Given the description of an element on the screen output the (x, y) to click on. 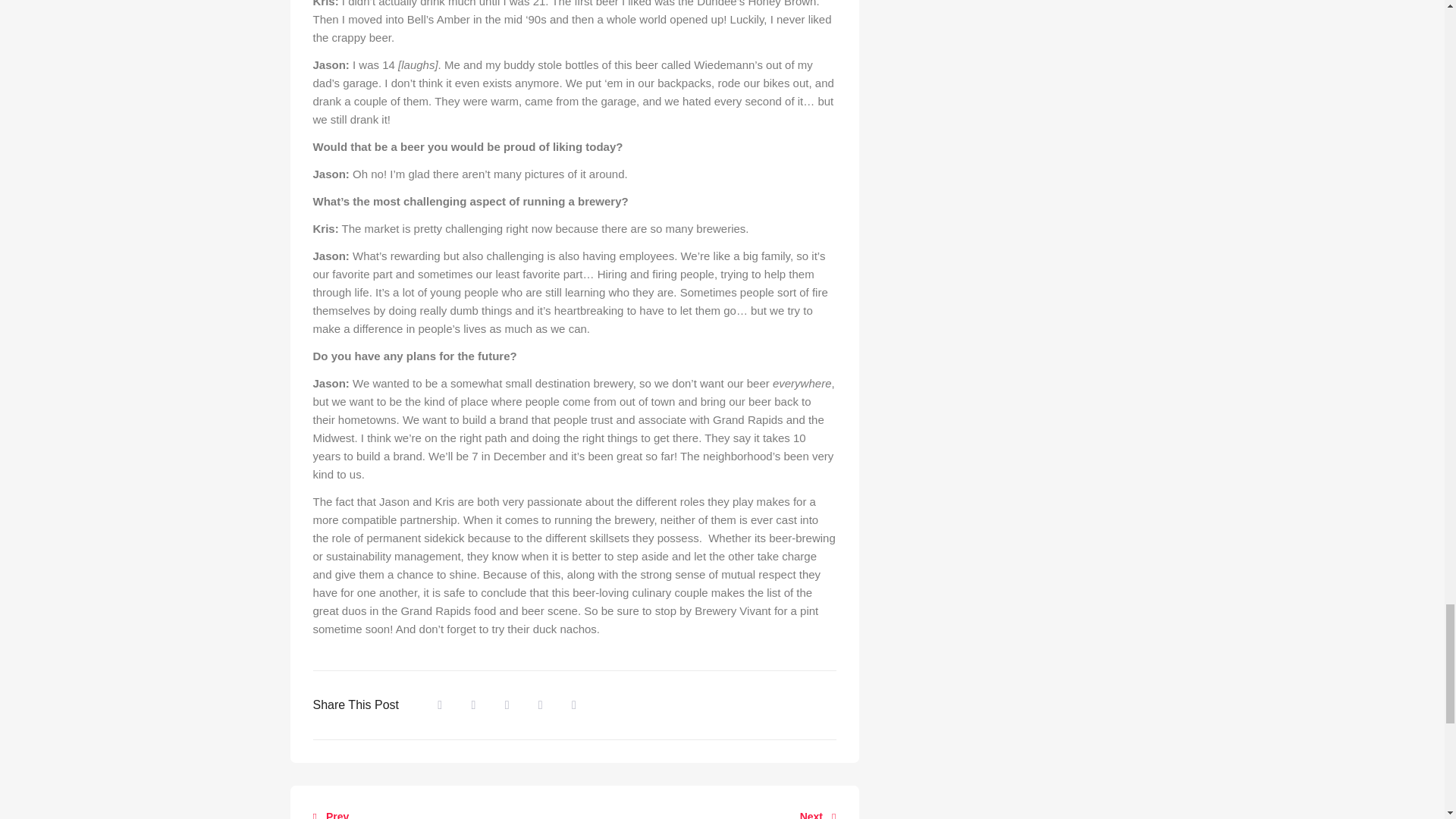
Share on Twitter (472, 705)
Share on facebook (439, 705)
Share on LinkedIn (507, 705)
Share on Pinterest (574, 705)
Share on Google plus (540, 705)
